Given the description of an element on the screen output the (x, y) to click on. 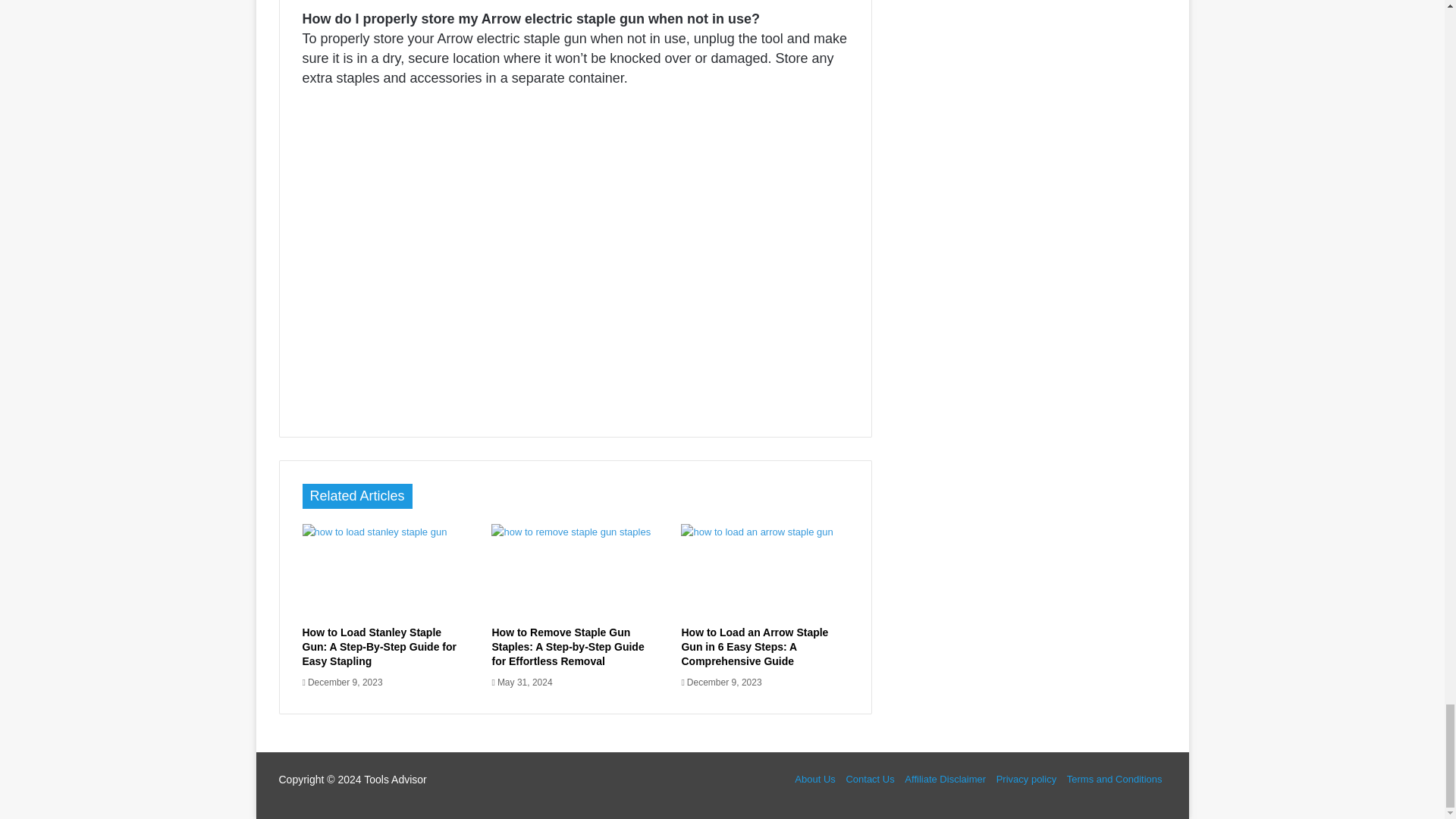
how to load stanley staple gun (384, 571)
how to remove staple gun staples (575, 571)
how to load an arrow staple gun (764, 571)
